Given the description of an element on the screen output the (x, y) to click on. 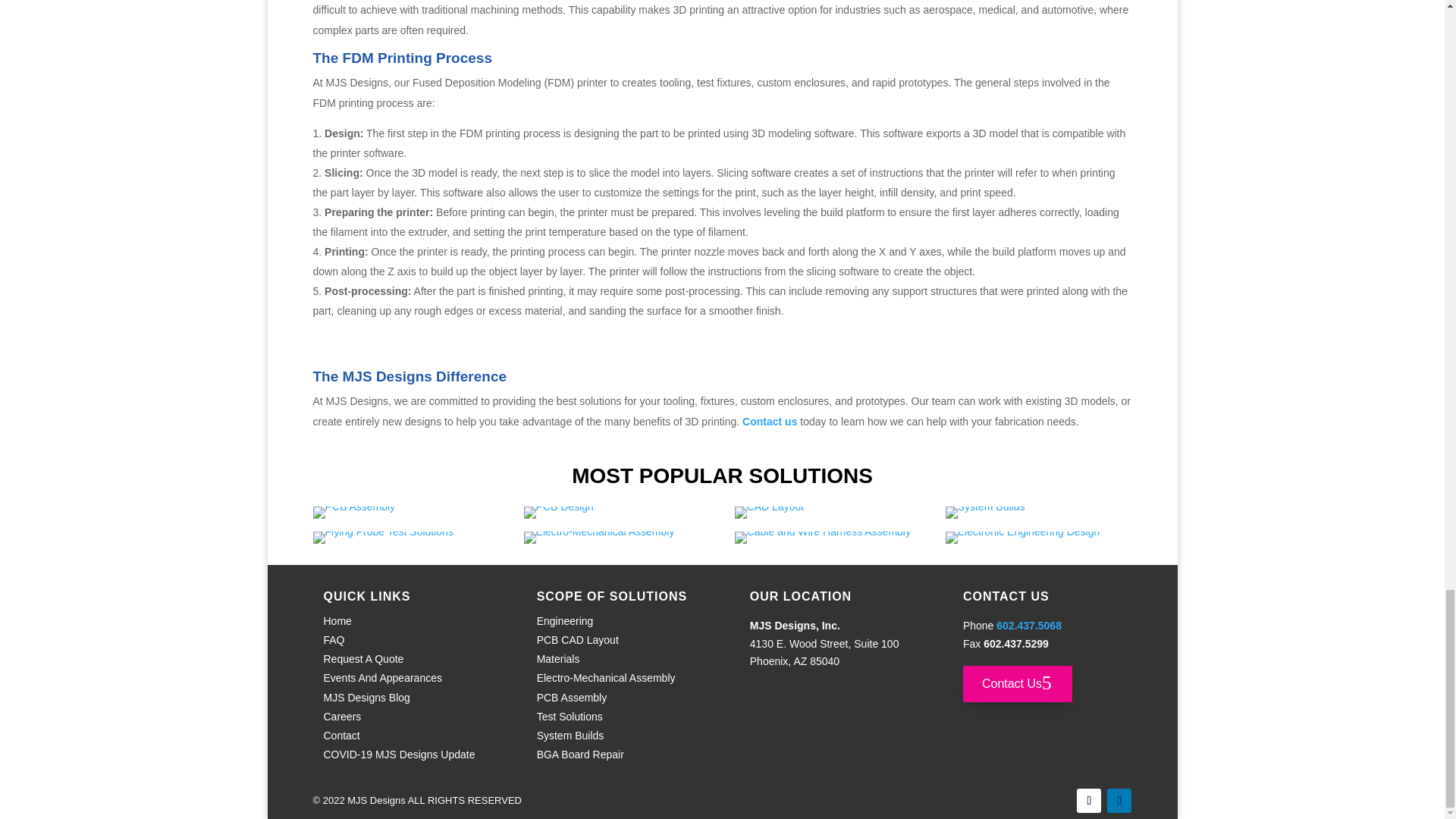
Follow on LinkedIn (1118, 800)
1 elect (1022, 537)
1 sb (984, 512)
Follow on Facebook (1088, 800)
